Given the description of an element on the screen output the (x, y) to click on. 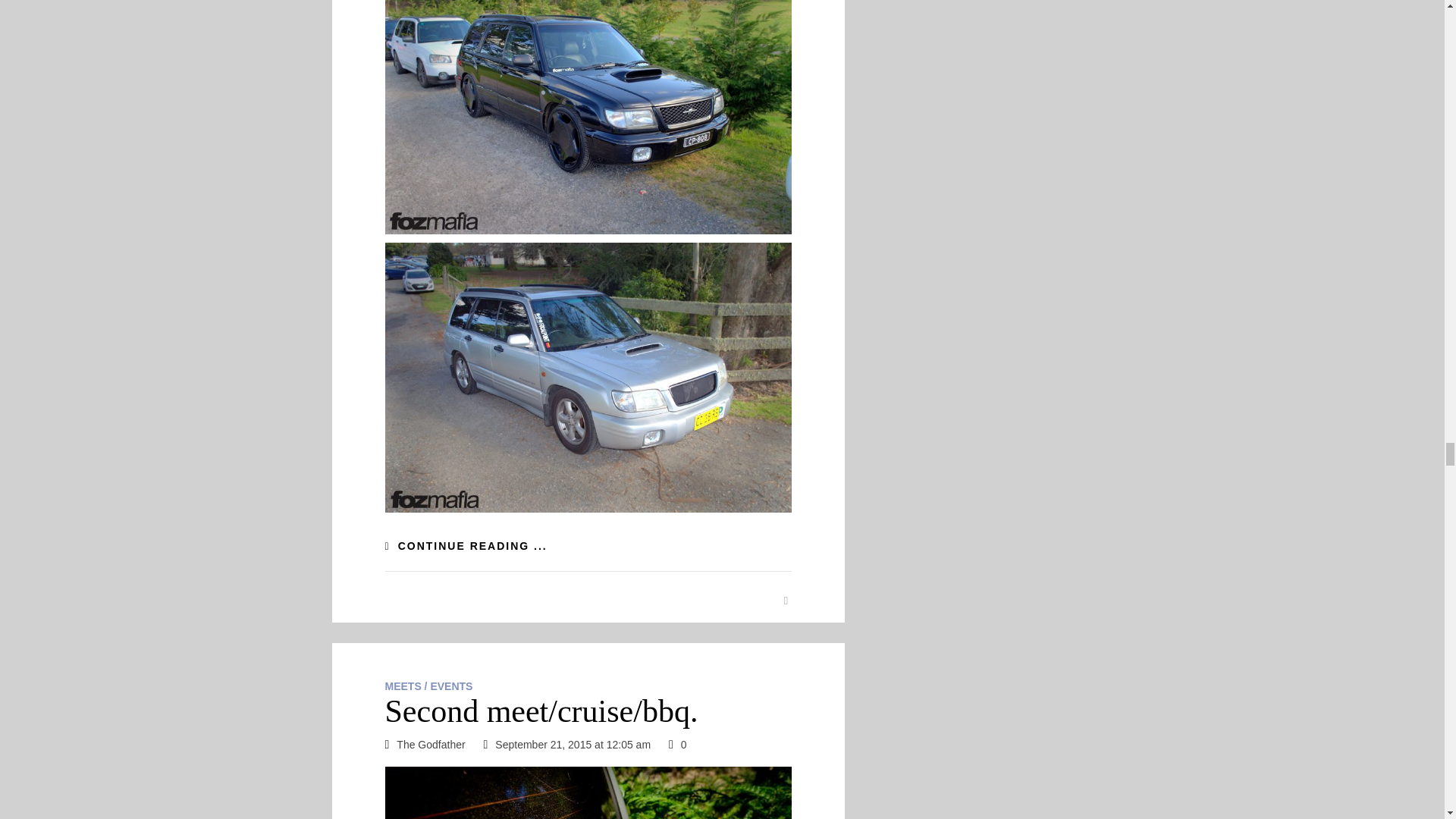
Posts by The Godfather (430, 744)
